Given the description of an element on the screen output the (x, y) to click on. 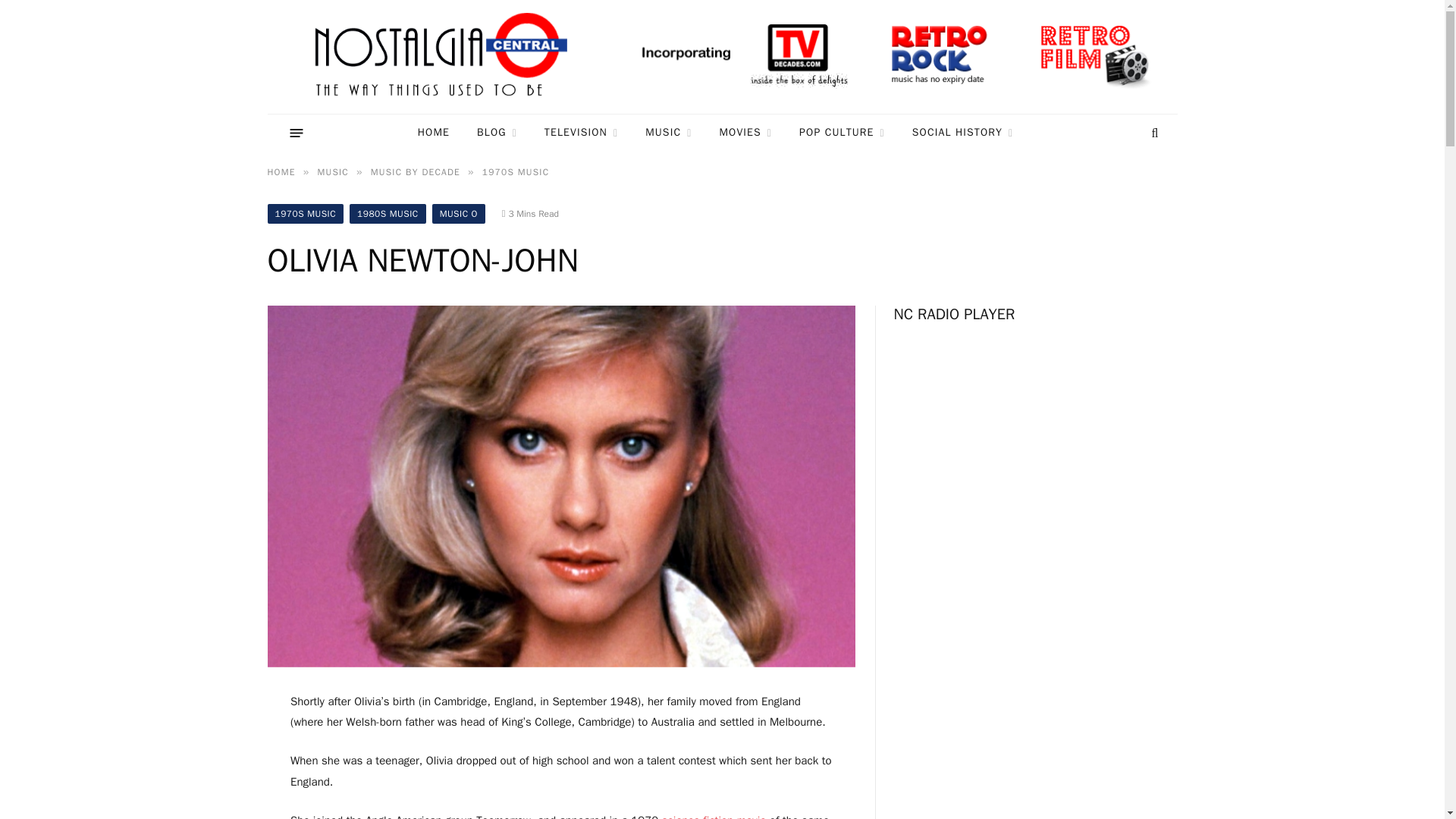
TELEVISION (581, 132)
BLOG (497, 132)
Nostalgia Central (444, 56)
HOME (433, 132)
